Given the description of an element on the screen output the (x, y) to click on. 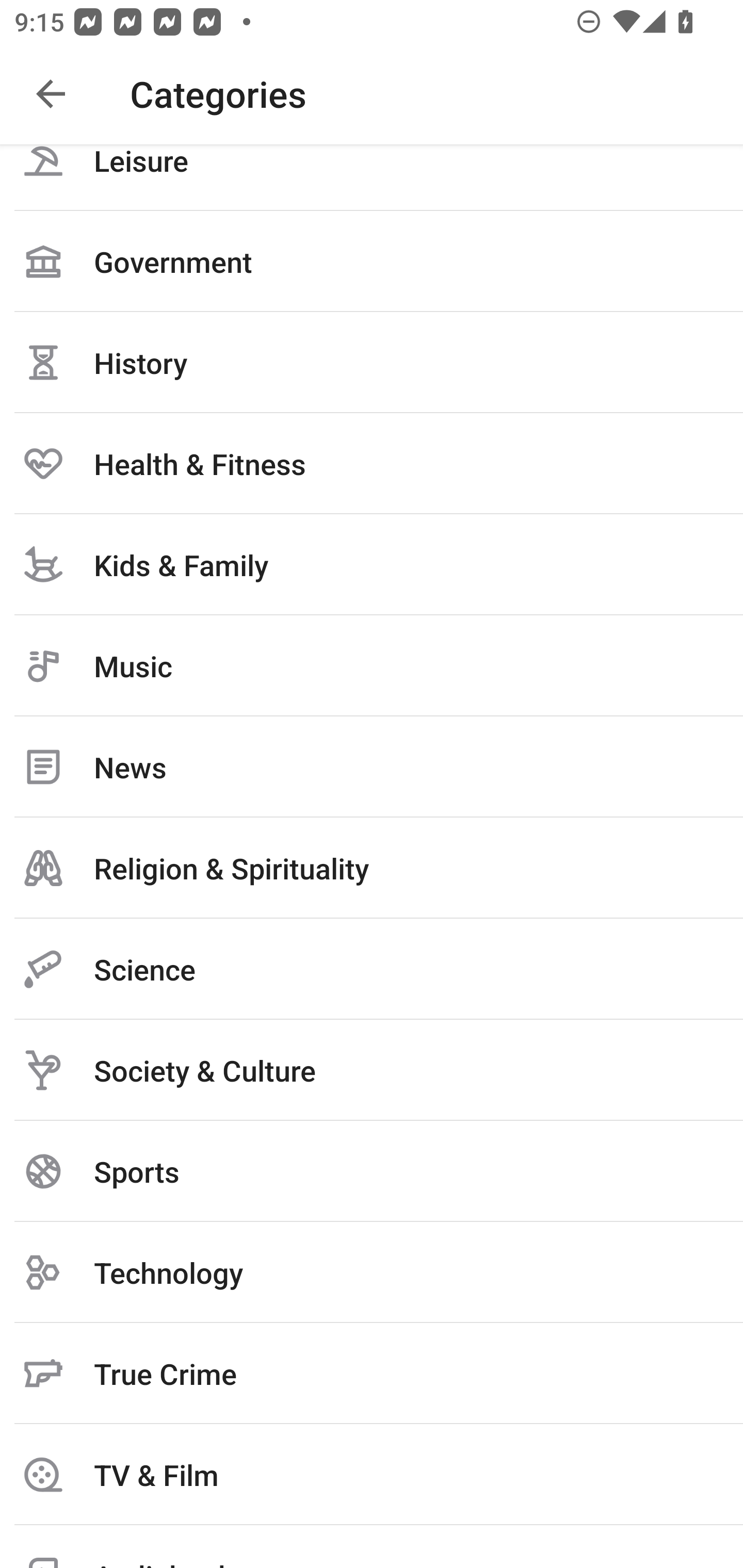
Navigate up (50, 93)
Leisure (371, 177)
Government (371, 261)
History (371, 362)
Health & Fitness (371, 463)
Kids & Family (371, 564)
Music (371, 665)
News (371, 766)
Religion & Spirituality (371, 867)
Science (371, 968)
Society & Culture (371, 1070)
Sports (371, 1171)
Technology (371, 1272)
True Crime (371, 1373)
TV & Film (371, 1474)
